Given the description of an element on the screen output the (x, y) to click on. 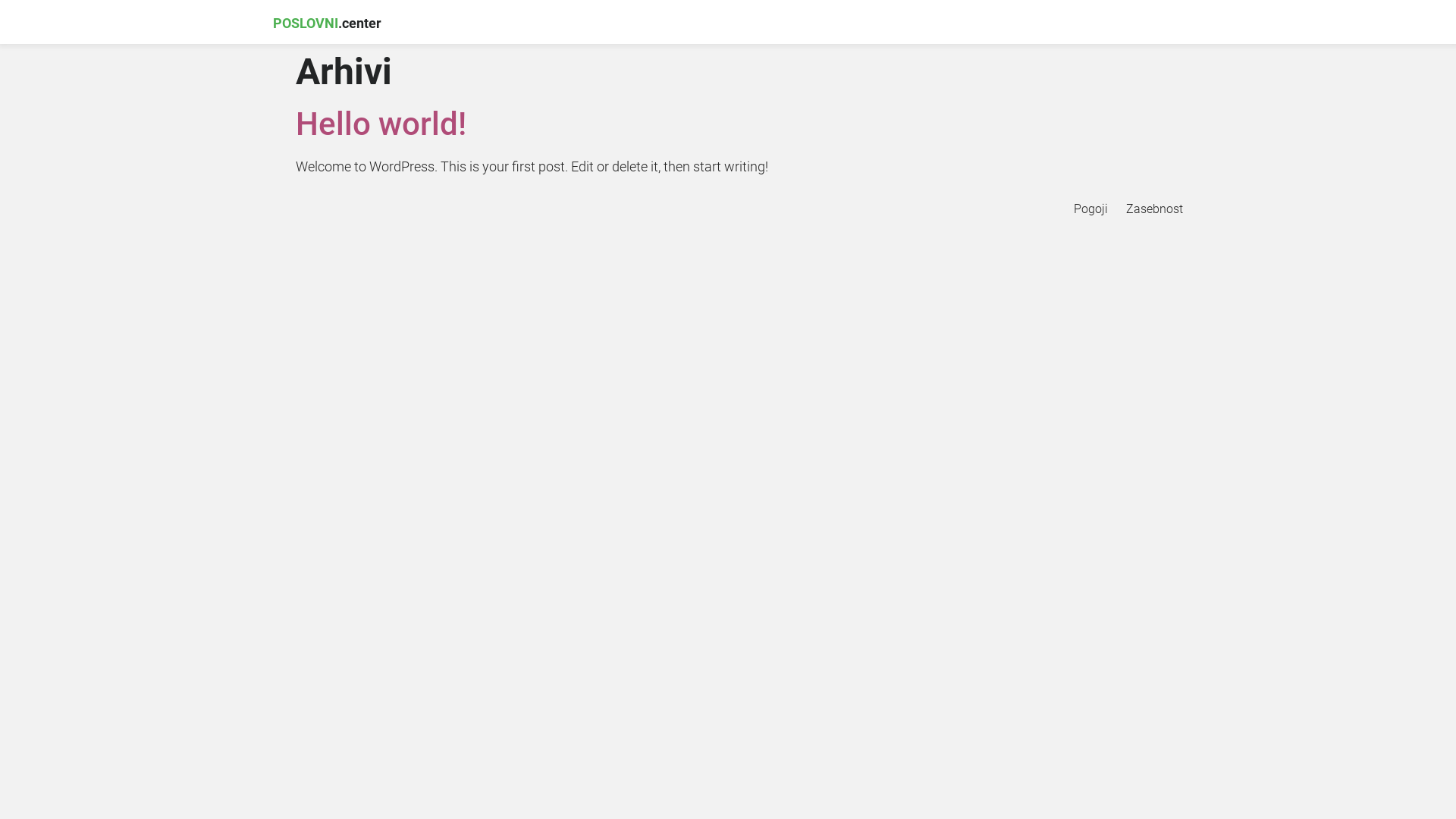
Hello world! Element type: text (380, 123)
Zasebnost Element type: text (1154, 209)
POSLOVNI
.center Element type: text (500, 23)
Pogoji Element type: text (1090, 209)
